Given the description of an element on the screen output the (x, y) to click on. 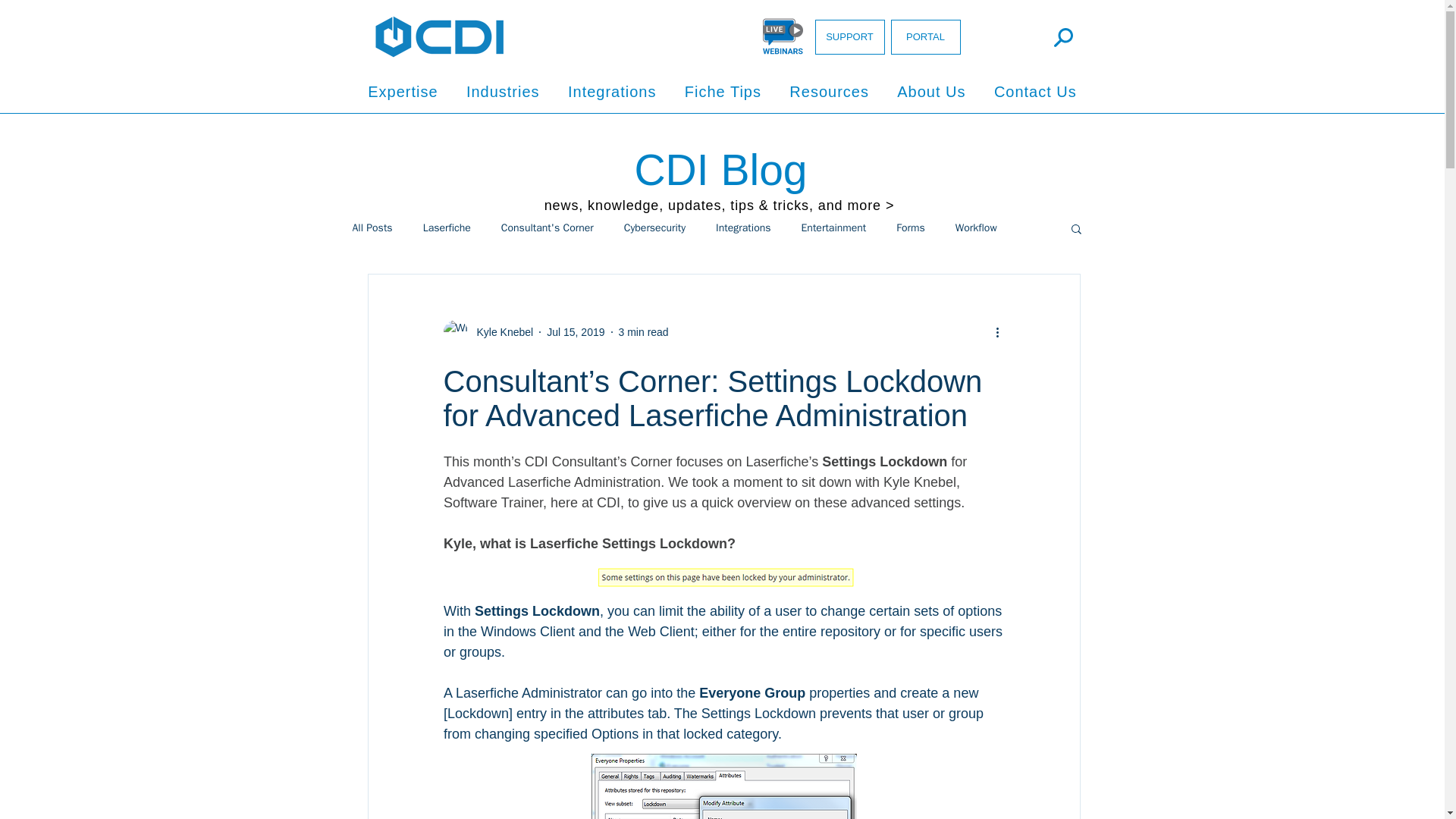
Cybersecurity (654, 228)
Fiche Tips (722, 92)
PORTAL (924, 36)
Entertainment (834, 228)
Contact Us (1034, 92)
Consultant's Corner (547, 228)
SUPPORT (848, 36)
Jul 15, 2019 (575, 331)
Kyle Knebel  (499, 332)
Workflow (976, 228)
About Us (931, 92)
CDI Homepage (438, 36)
Integrations (743, 228)
Forms (910, 228)
CDI Laserfiche Webinars (782, 37)
